Given the description of an element on the screen output the (x, y) to click on. 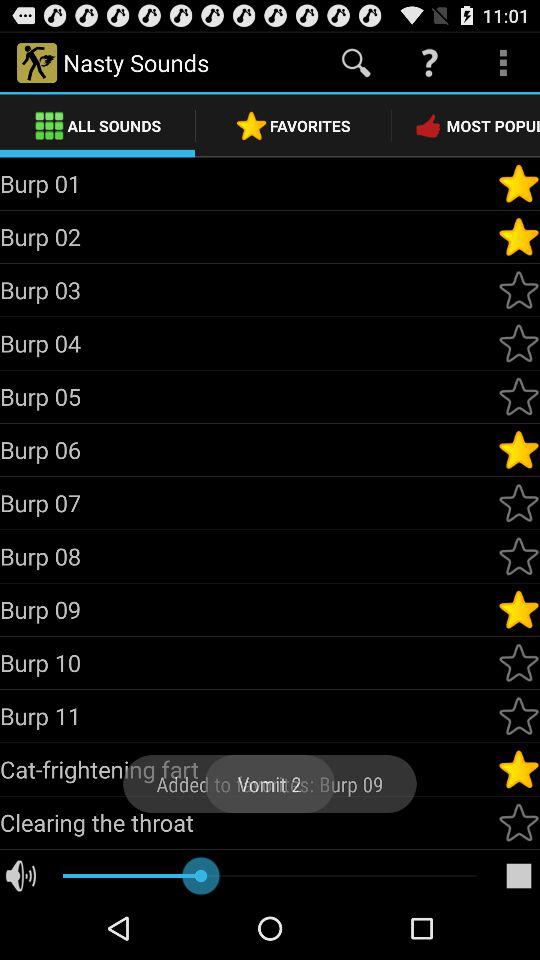
indicate as 'favorite (519, 609)
